Given the description of an element on the screen output the (x, y) to click on. 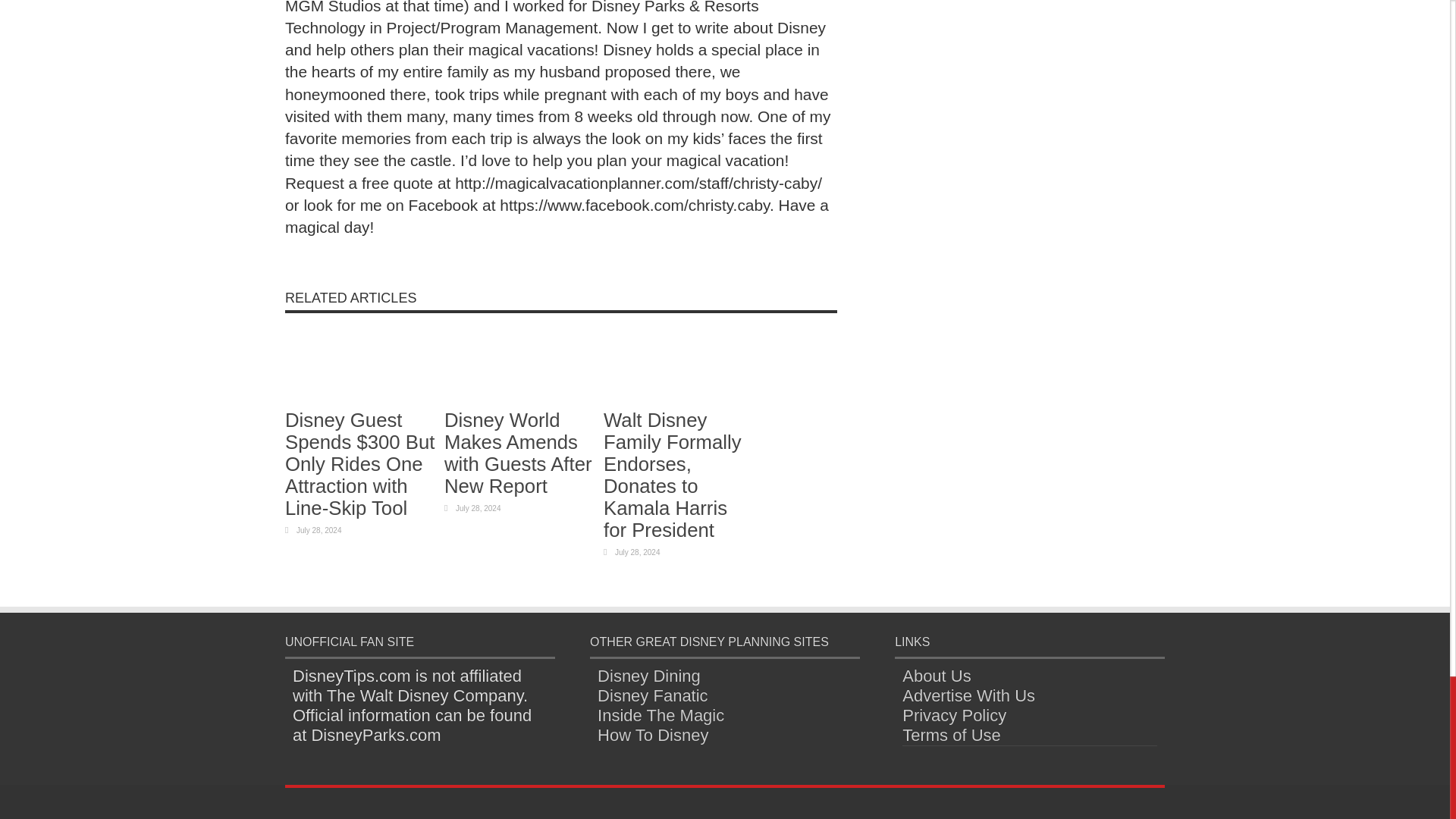
Disney World Makes Amends with Guests After New Report (518, 452)
Disney Dining (648, 675)
How To Disney (651, 734)
About Us (936, 675)
Christy Caby 's site (292, 254)
Disney Fanatic (651, 695)
Advertise With Us (968, 695)
Privacy Policy (954, 714)
Inside The Magic (659, 714)
